Given the description of an element on the screen output the (x, y) to click on. 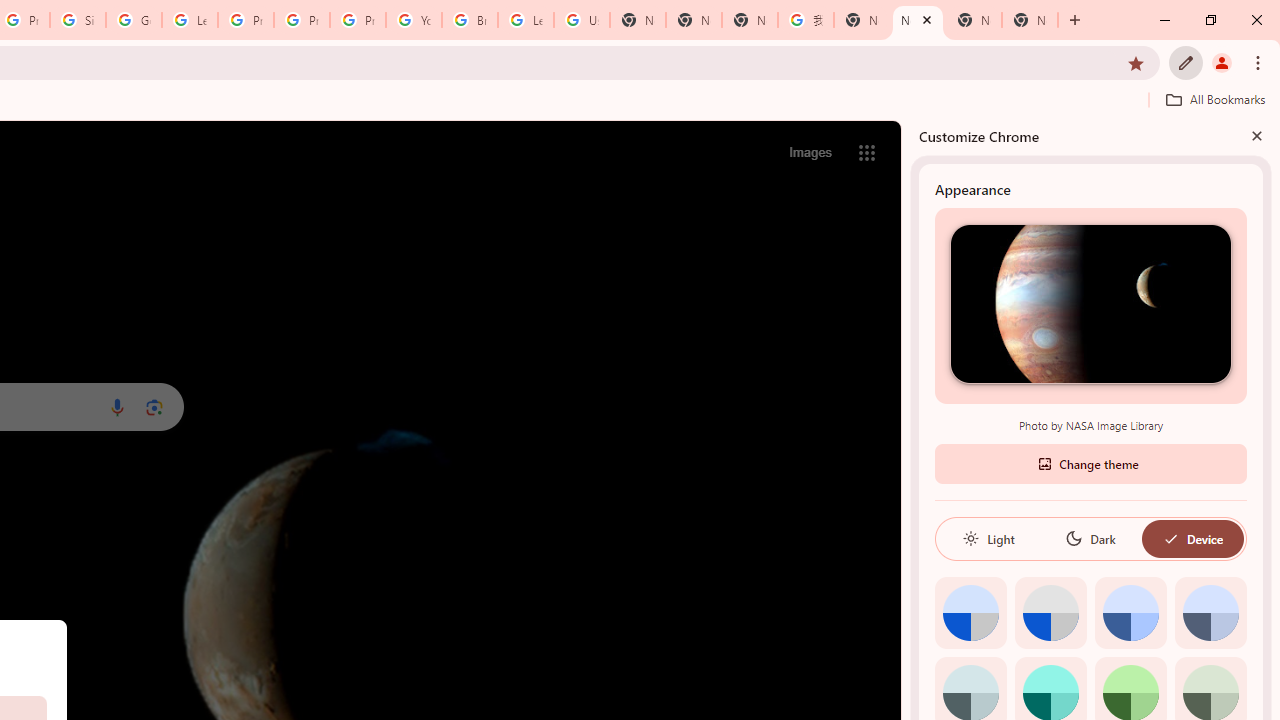
New Tab (693, 20)
